Given the description of an element on the screen output the (x, y) to click on. 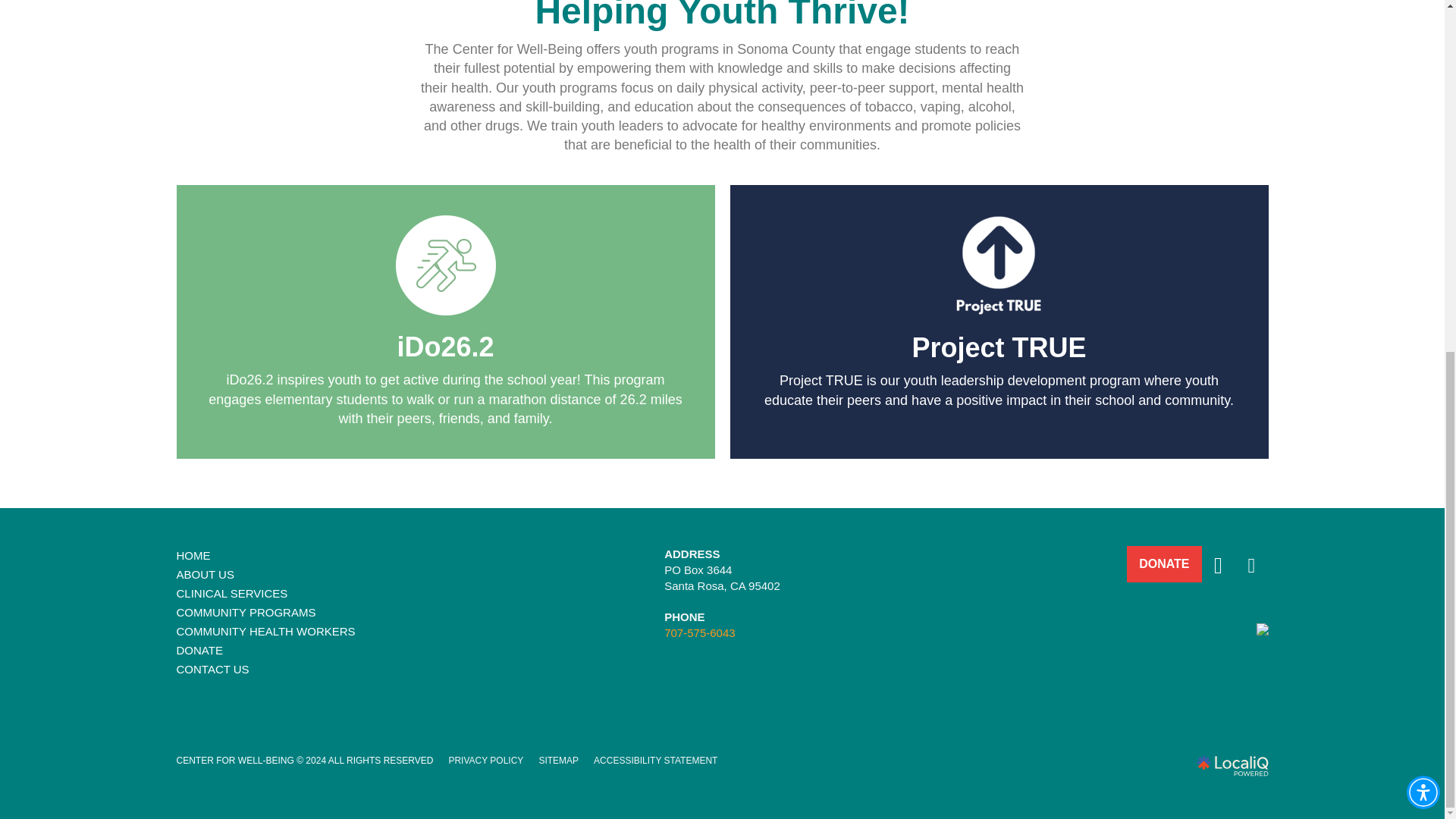
Accessibility Menu (1422, 180)
